Given the description of an element on the screen output the (x, y) to click on. 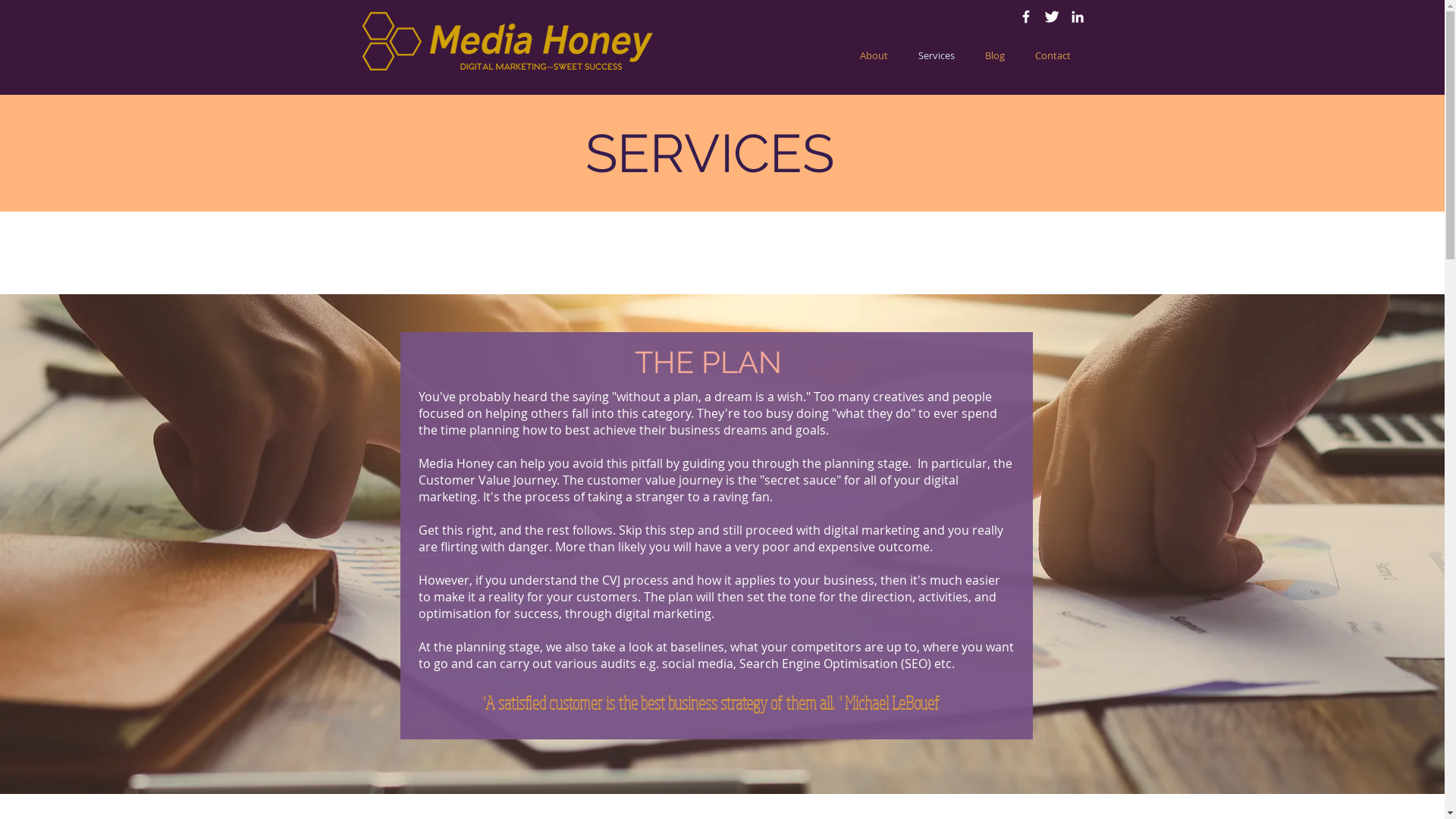
Blog Element type: text (994, 55)
Services Element type: text (935, 55)
Contact Element type: text (1052, 55)
About Element type: text (873, 55)
